Given the description of an element on the screen output the (x, y) to click on. 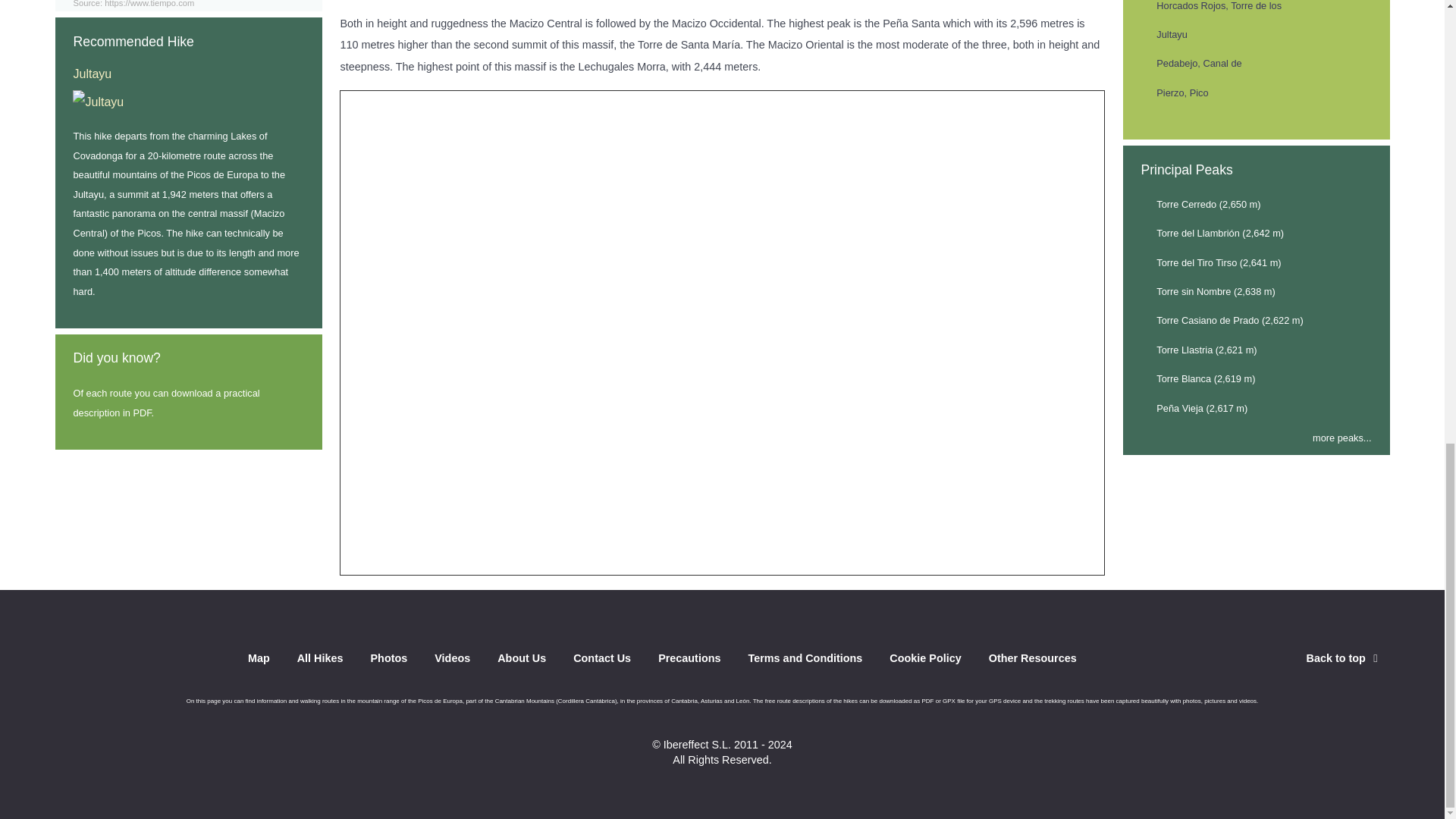
Back to top (1343, 657)
All Hikes (320, 661)
Videos (451, 661)
Photos (388, 661)
Terms and Conditions (804, 661)
Precautions (689, 661)
Contact Us (601, 661)
About Us (521, 661)
Cookie Policy (924, 661)
Other Resources (1032, 661)
